Given the description of an element on the screen output the (x, y) to click on. 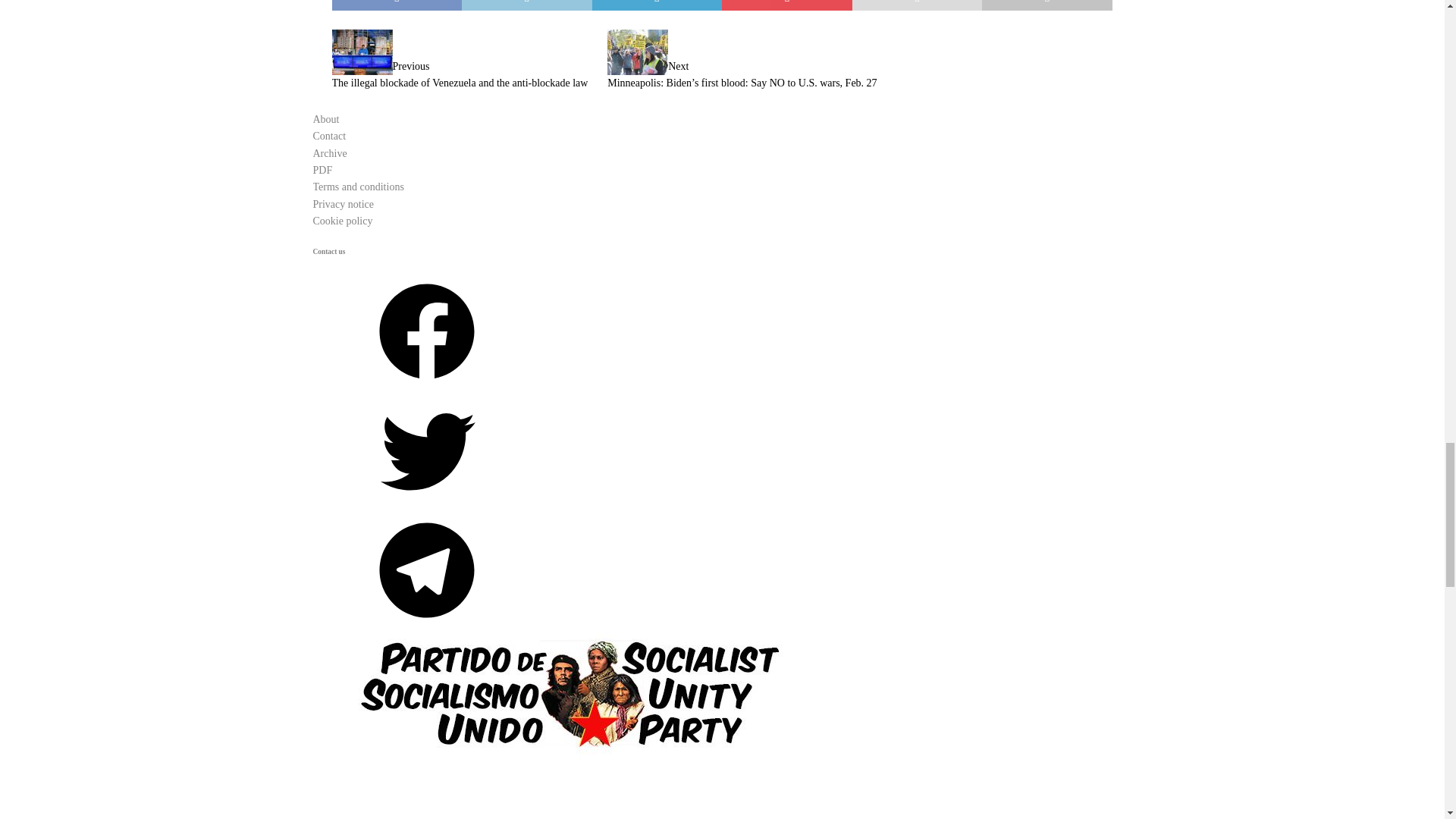
About (326, 119)
